Given the description of an element on the screen output the (x, y) to click on. 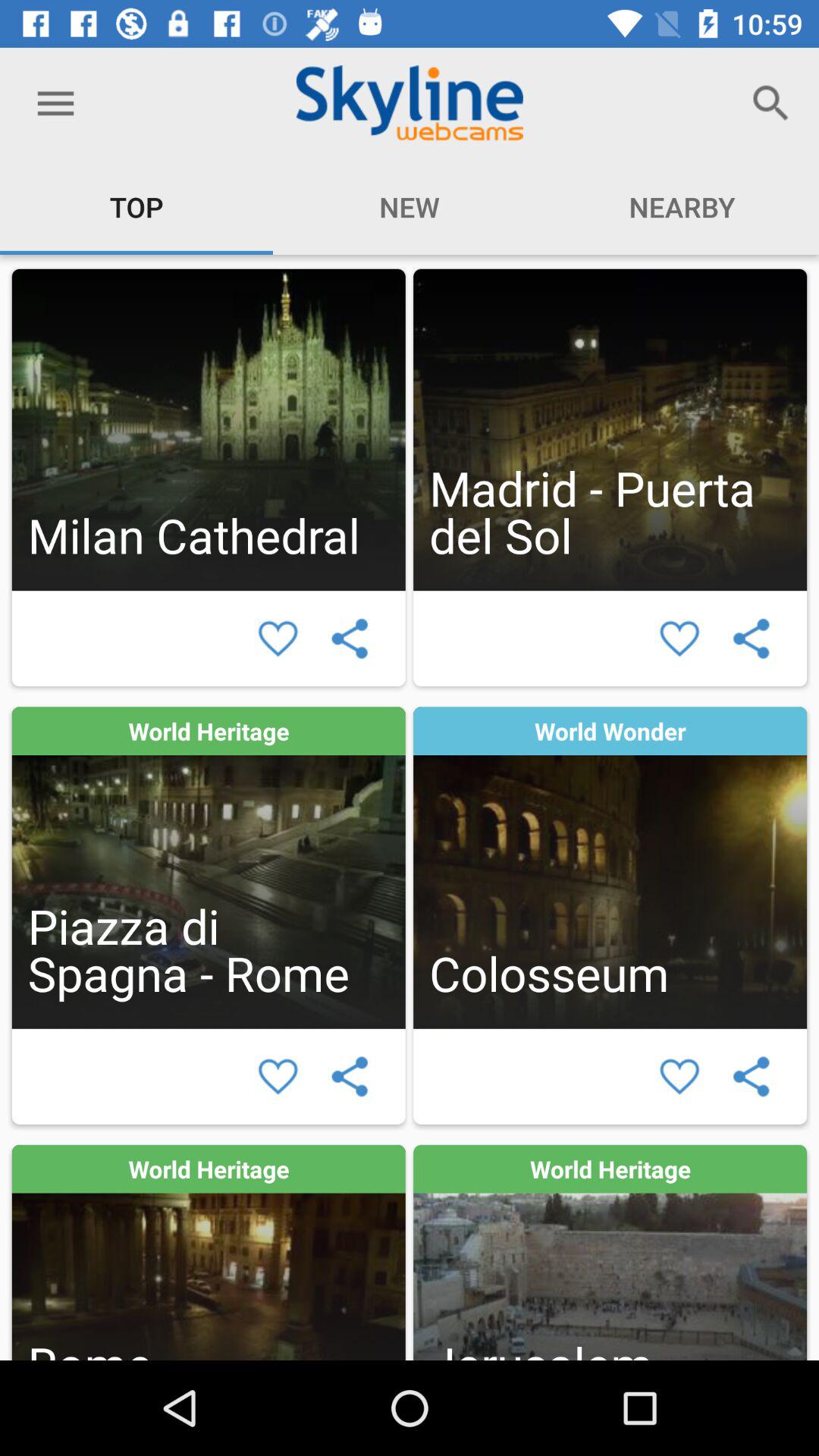
salvar esta mdia como favorito (278, 1076)
